Given the description of an element on the screen output the (x, y) to click on. 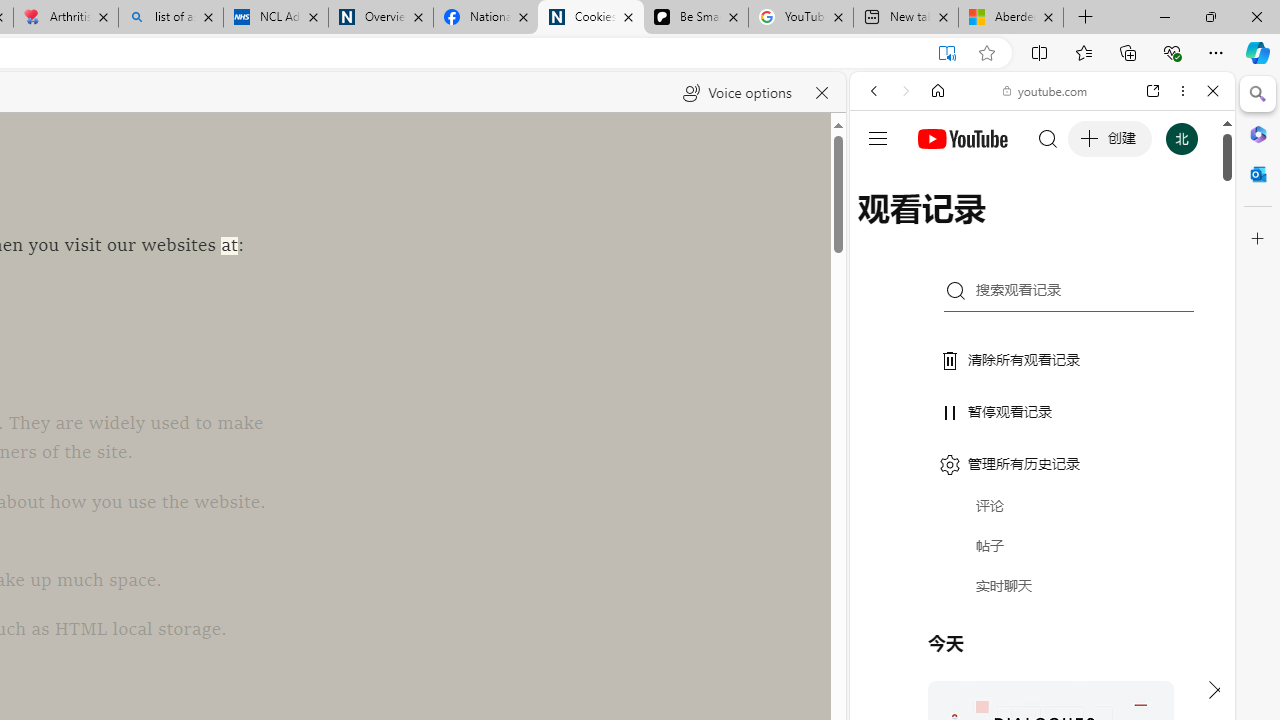
YouTube (1034, 296)
#you (1042, 445)
Search videos from youtube.com (1005, 657)
Trailer #2 [HD] (1042, 592)
Trailer #2 [HD] (1042, 594)
